Given the description of an element on the screen output the (x, y) to click on. 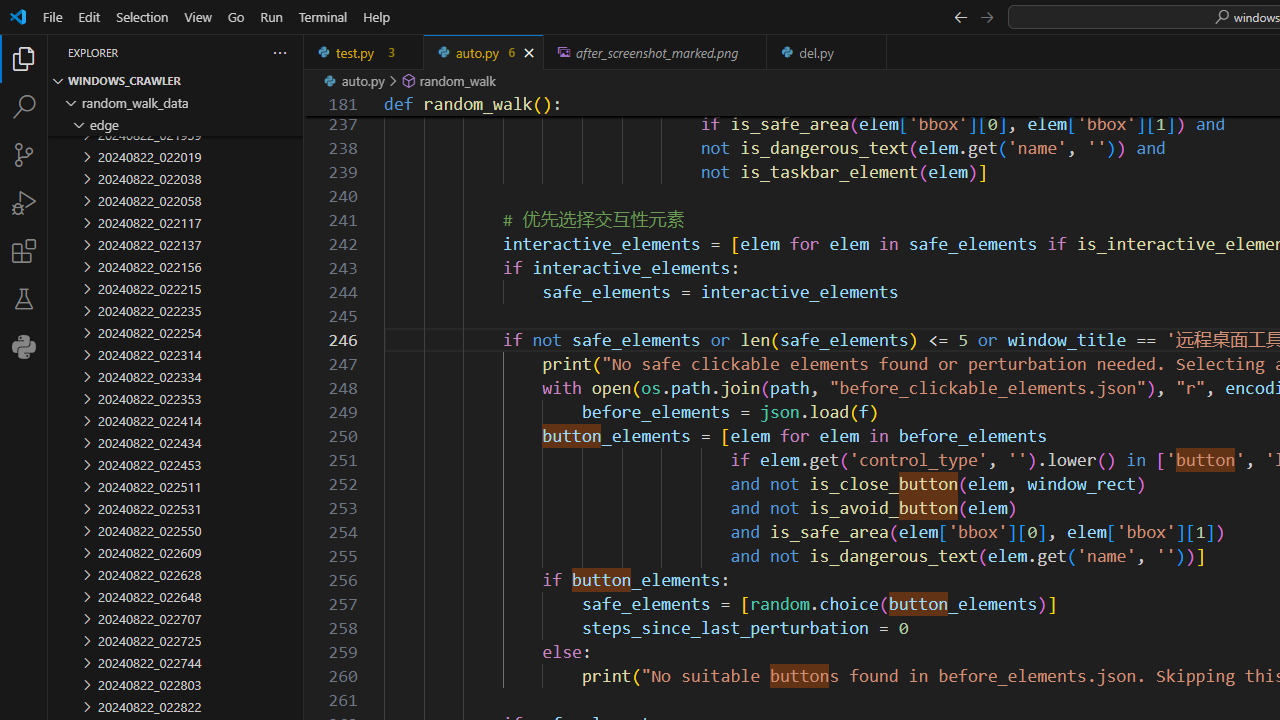
View (198, 16)
del.py (827, 52)
Explorer Section: windows_crawler (175, 80)
Extensions (Ctrl+Shift+X) (24, 250)
Explorer actions (208, 52)
Close (Ctrl+F4) (872, 52)
Edit (89, 16)
test.py (363, 52)
Python (24, 346)
Terminal (322, 16)
